Given the description of an element on the screen output the (x, y) to click on. 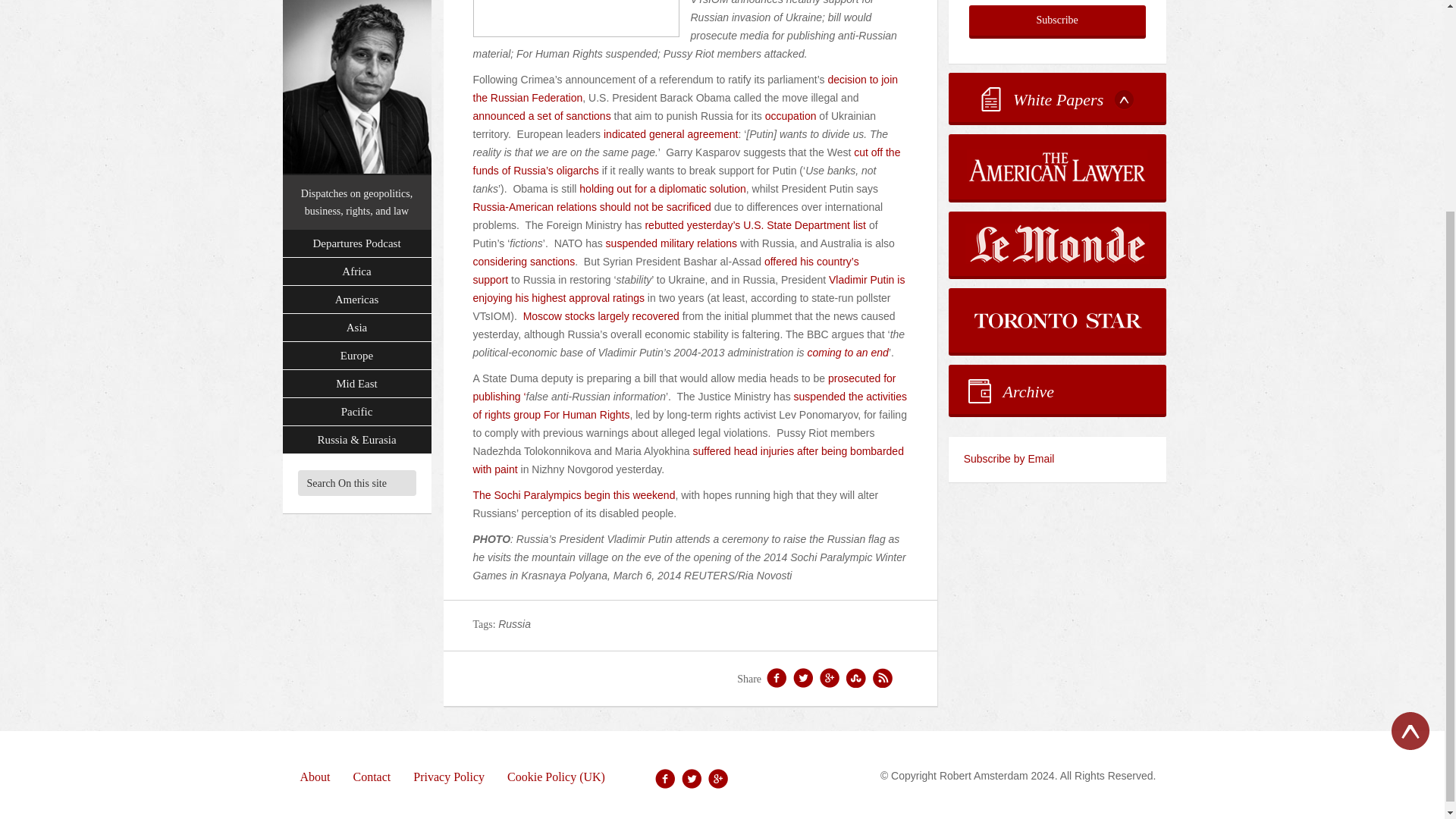
Subscribe to the Robert Amsterdam feed by email (1057, 459)
coming to an end (847, 352)
suspended military relations (671, 243)
Moscow stocks largely recovered (600, 316)
suspended the activities of rights group For Human Rights (690, 405)
Pacific (356, 235)
Departures Podcast (356, 67)
decision to join the Russian Federation (685, 88)
occupation (790, 115)
considering sanctions (524, 261)
